Given the description of an element on the screen output the (x, y) to click on. 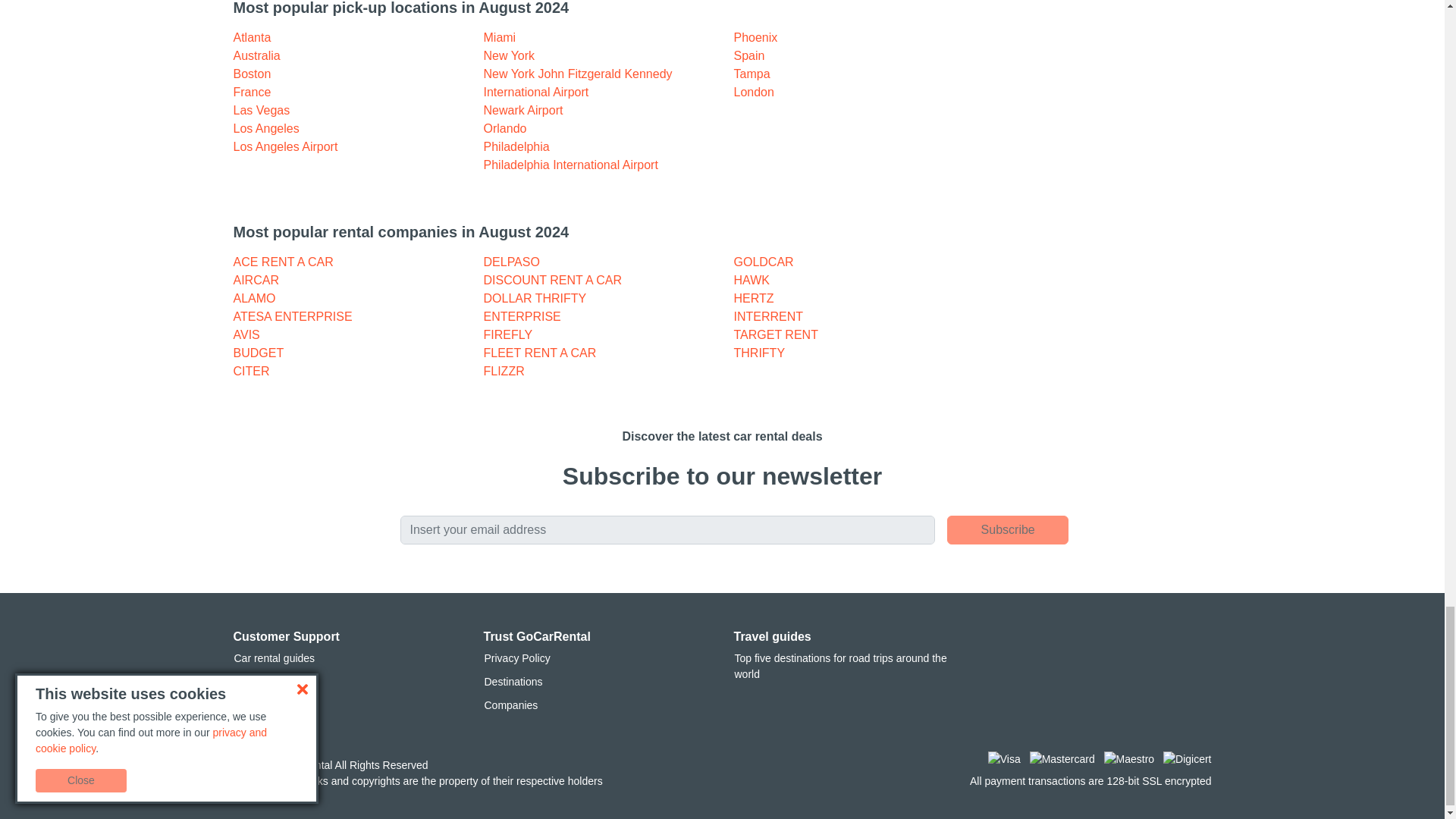
Los Angeles Airport (284, 146)
Spain (749, 55)
Newark Airport (523, 110)
New York (509, 55)
Phoenix (755, 37)
Atlanta (251, 37)
France (251, 91)
ATESA ENTERPRISE (292, 316)
AIRCAR (255, 279)
Miami (499, 37)
Newark Airport (523, 110)
Orlando (505, 128)
France (251, 91)
Las Vegas (260, 110)
London (753, 91)
